Given the description of an element on the screen output the (x, y) to click on. 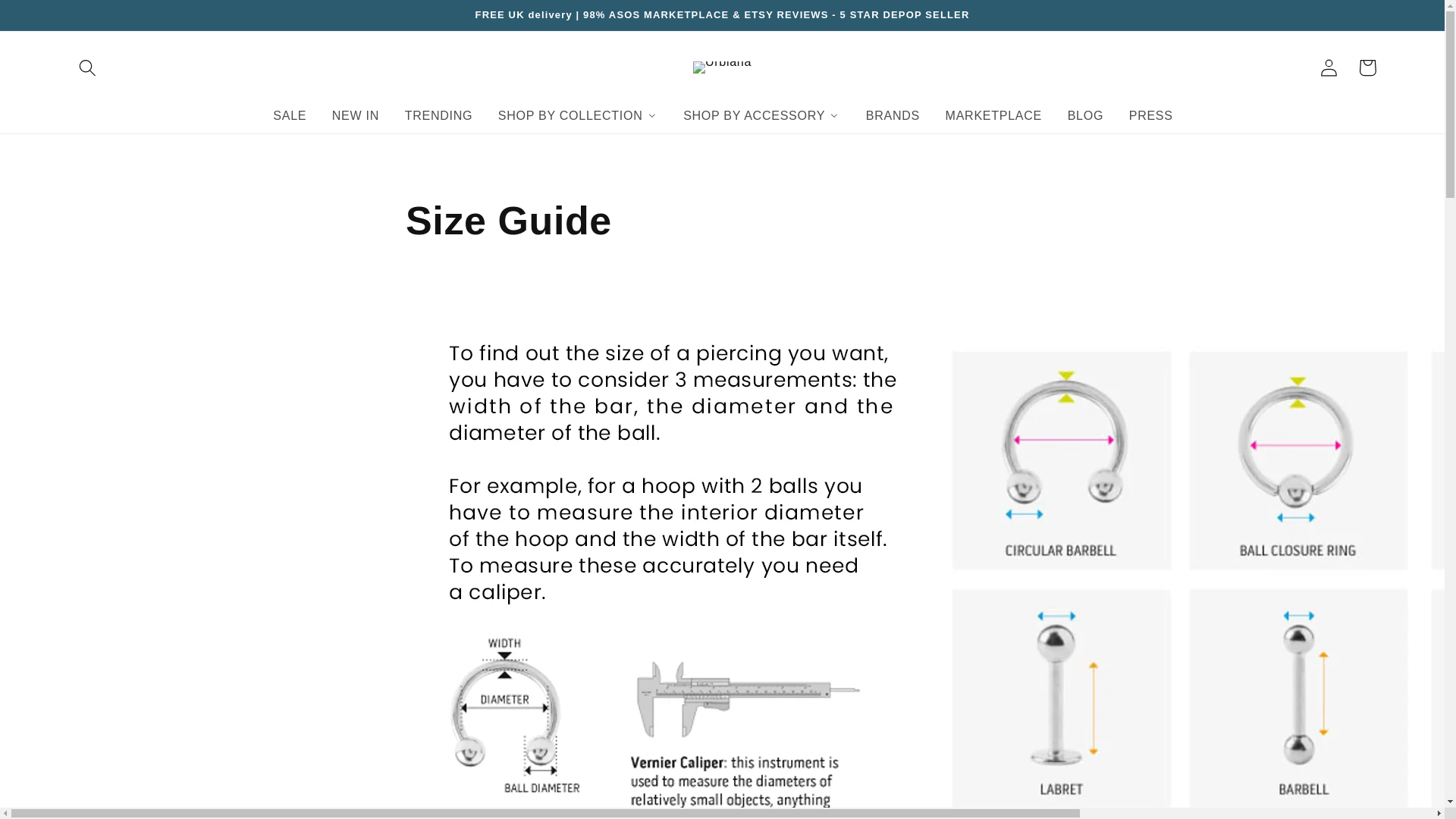
Skip to content (51, 19)
